Given the description of an element on the screen output the (x, y) to click on. 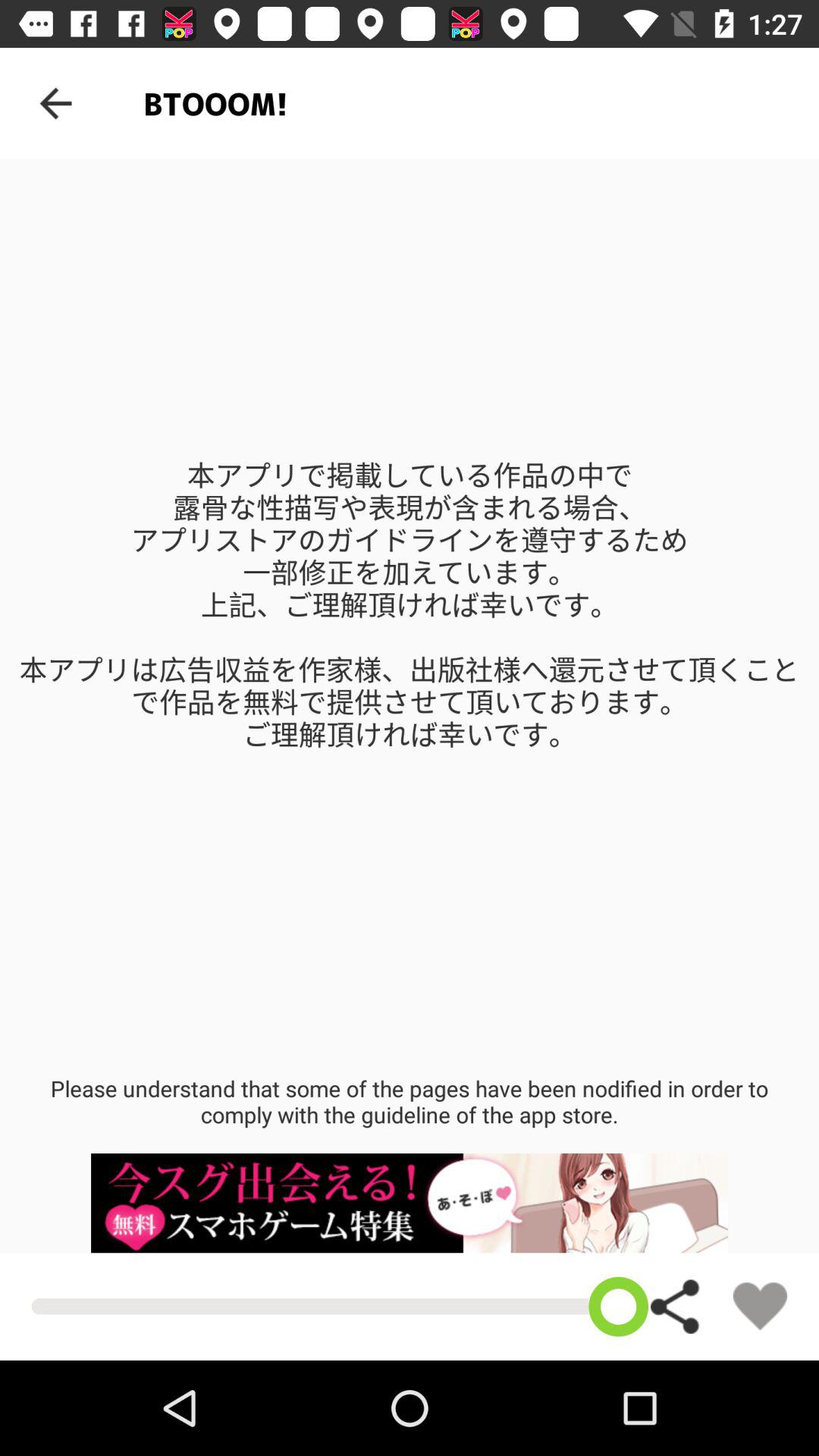
mark as favorite (760, 1306)
